Given the description of an element on the screen output the (x, y) to click on. 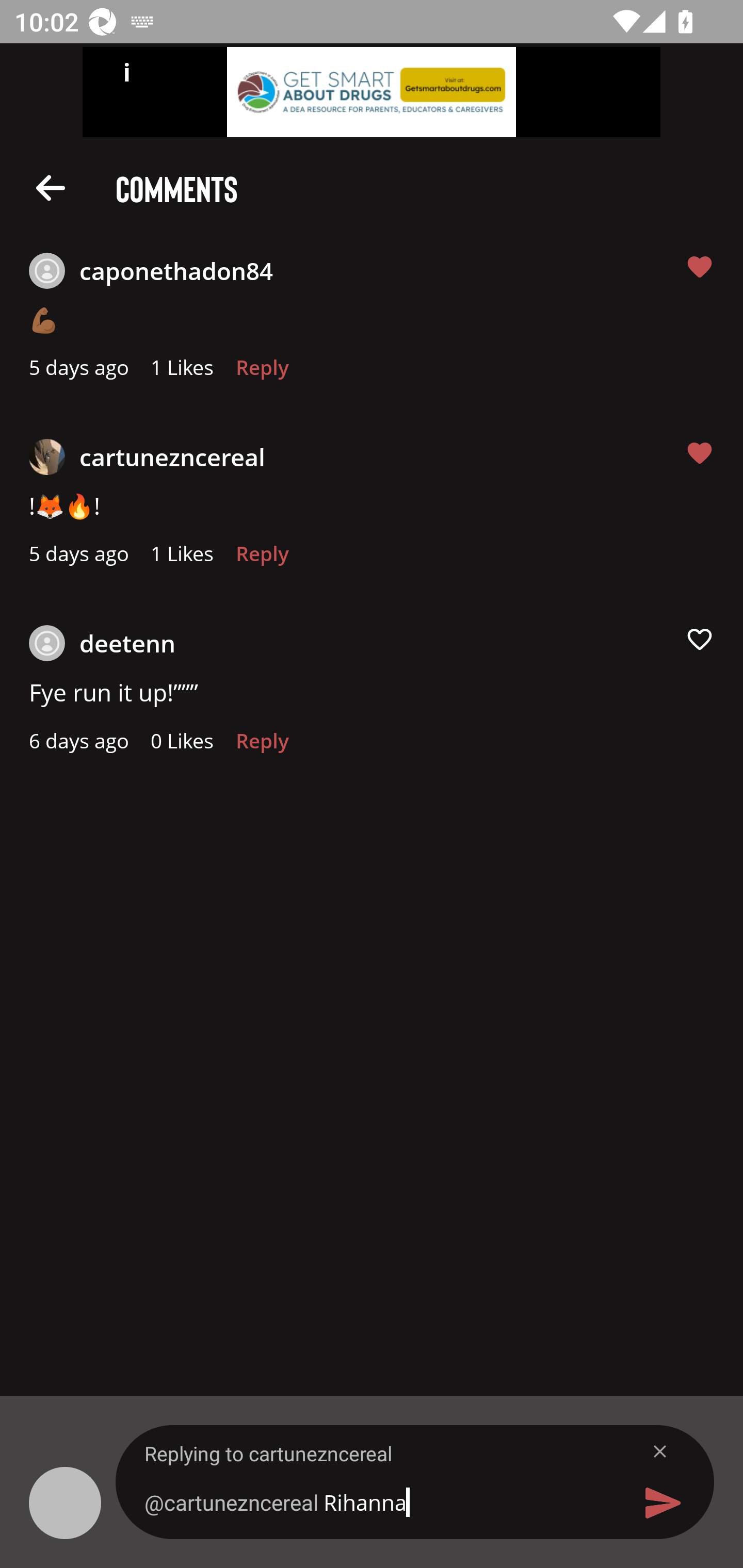
Description (50, 187)
Reply (261, 372)
Reply (261, 558)
Reply (261, 746)
Rihanna (378, 1502)
